Given the description of an element on the screen output the (x, y) to click on. 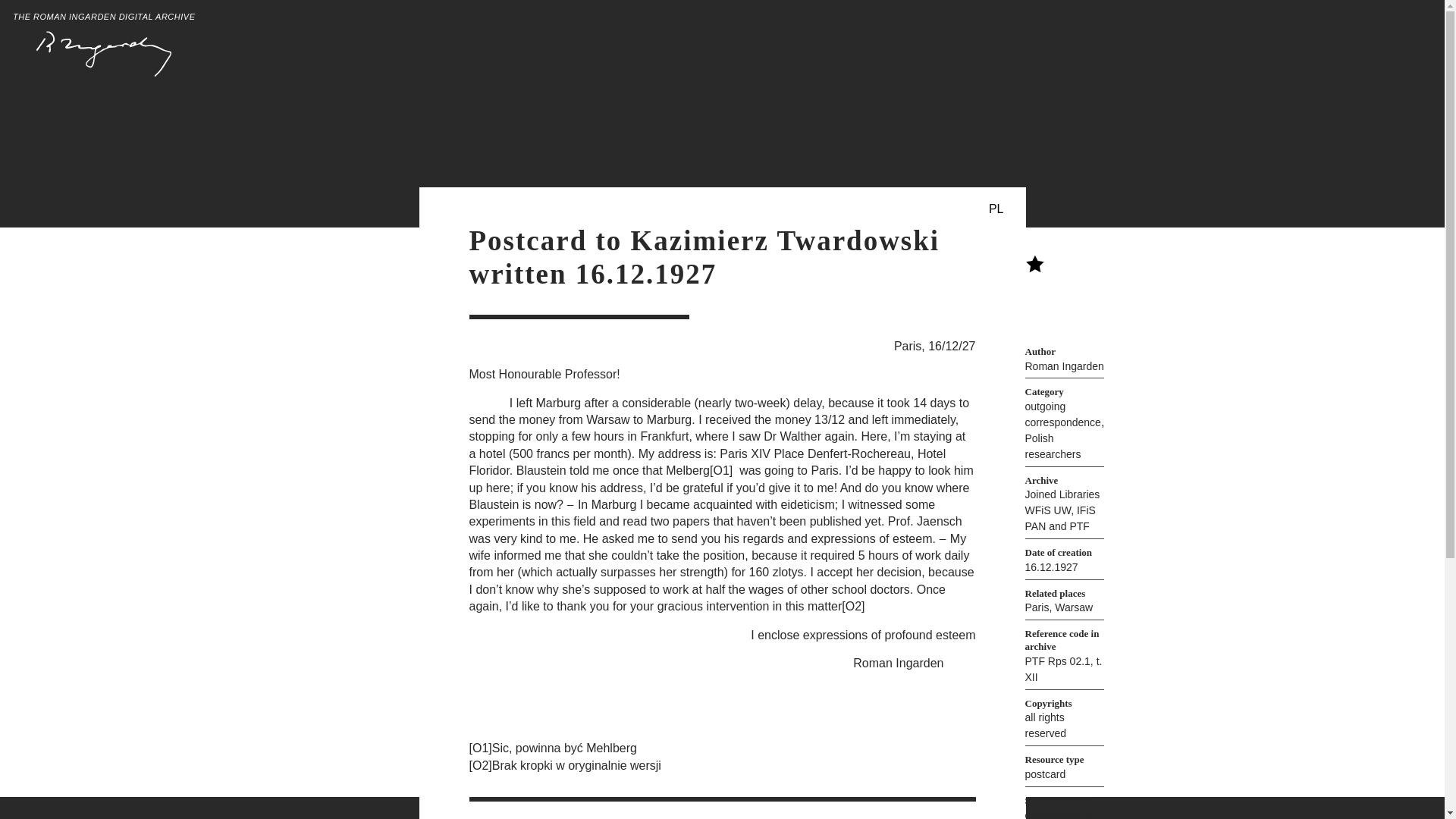
THE ROMAN INGARDEN DIGITAL ARCHIVE (104, 44)
PL (996, 209)
Roman Ingarden (1064, 366)
